Given the description of an element on the screen output the (x, y) to click on. 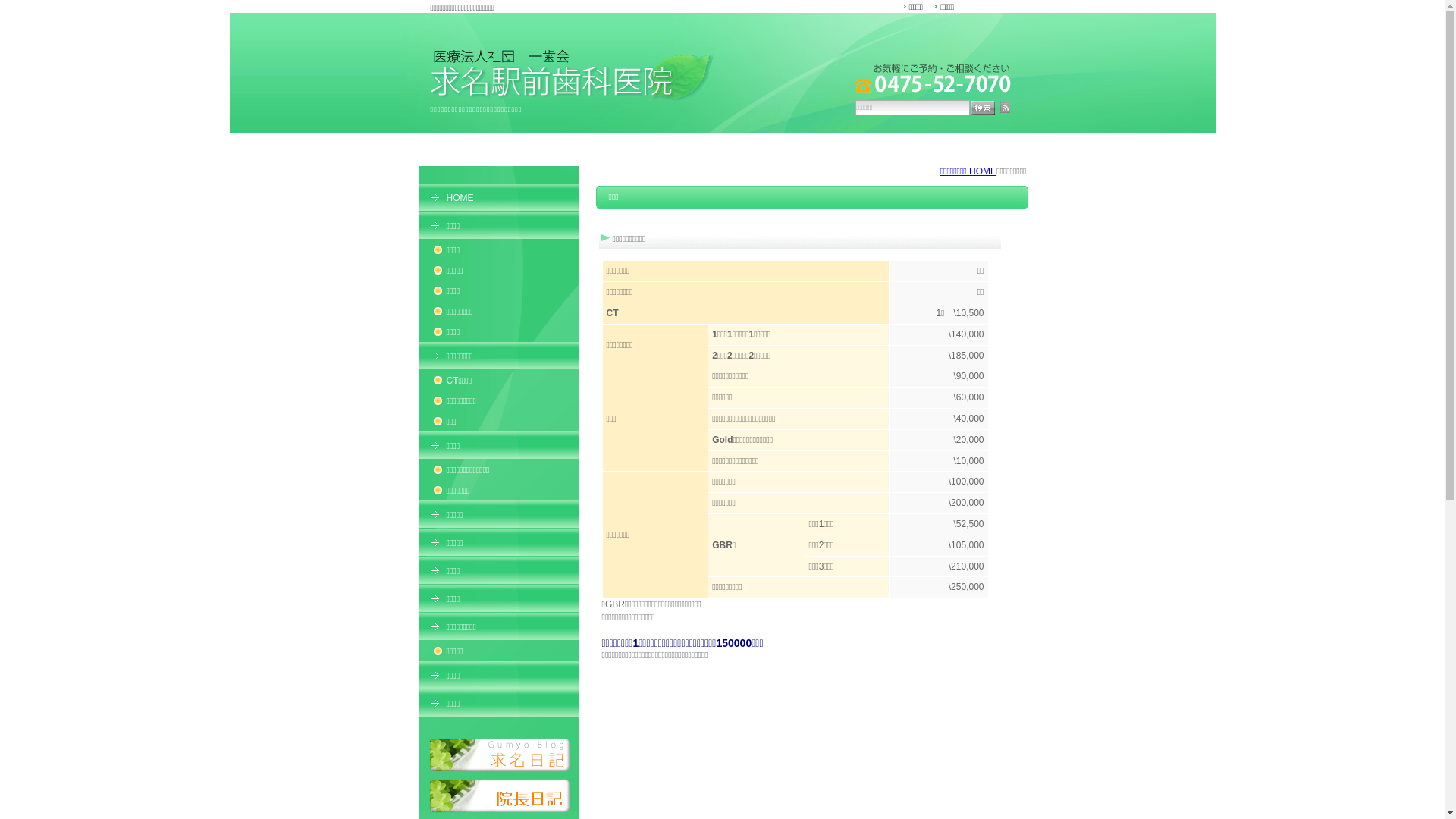
HOME Element type: text (497, 196)
